Given the description of an element on the screen output the (x, y) to click on. 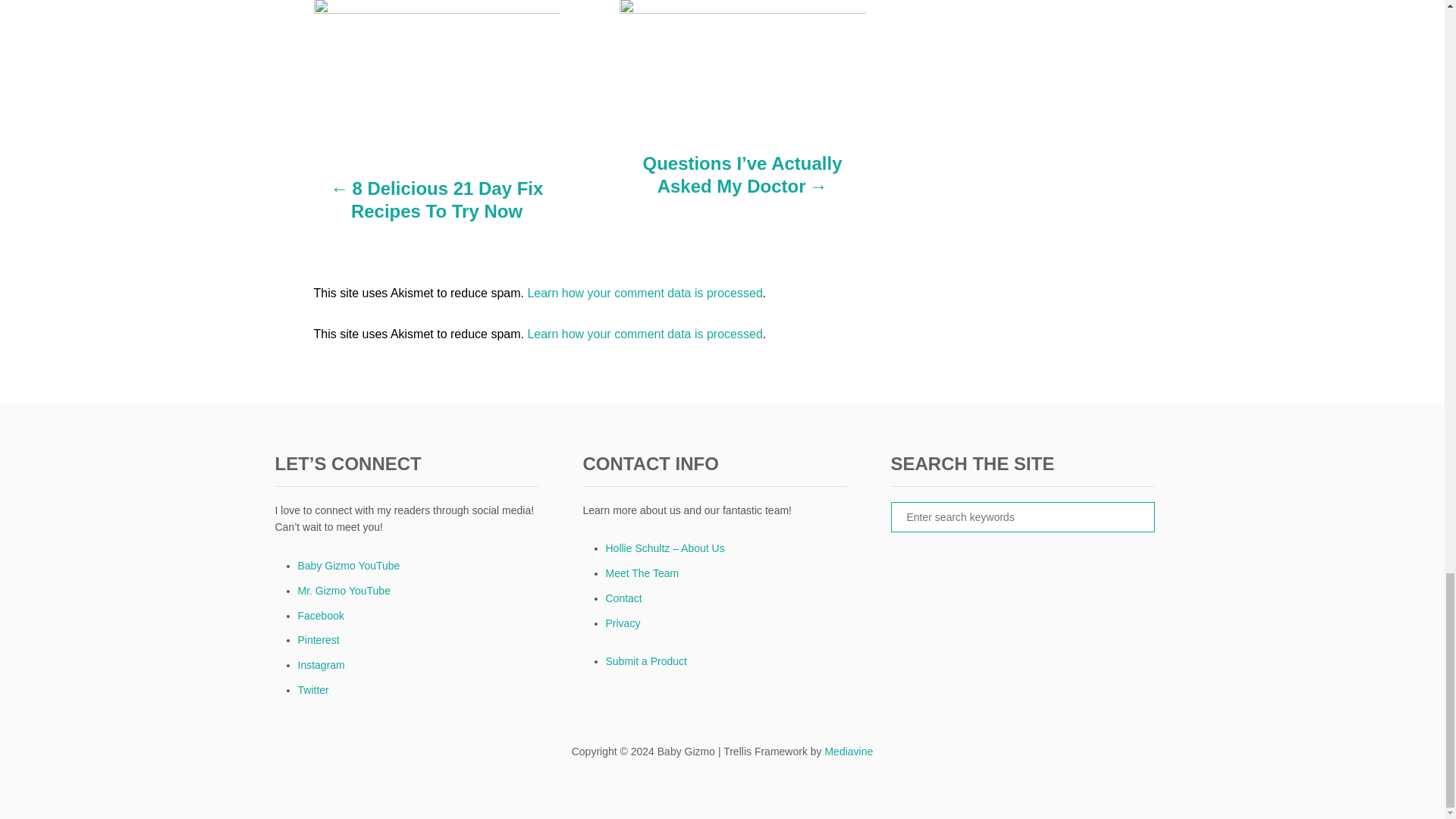
Search for: (1021, 517)
